Given the description of an element on the screen output the (x, y) to click on. 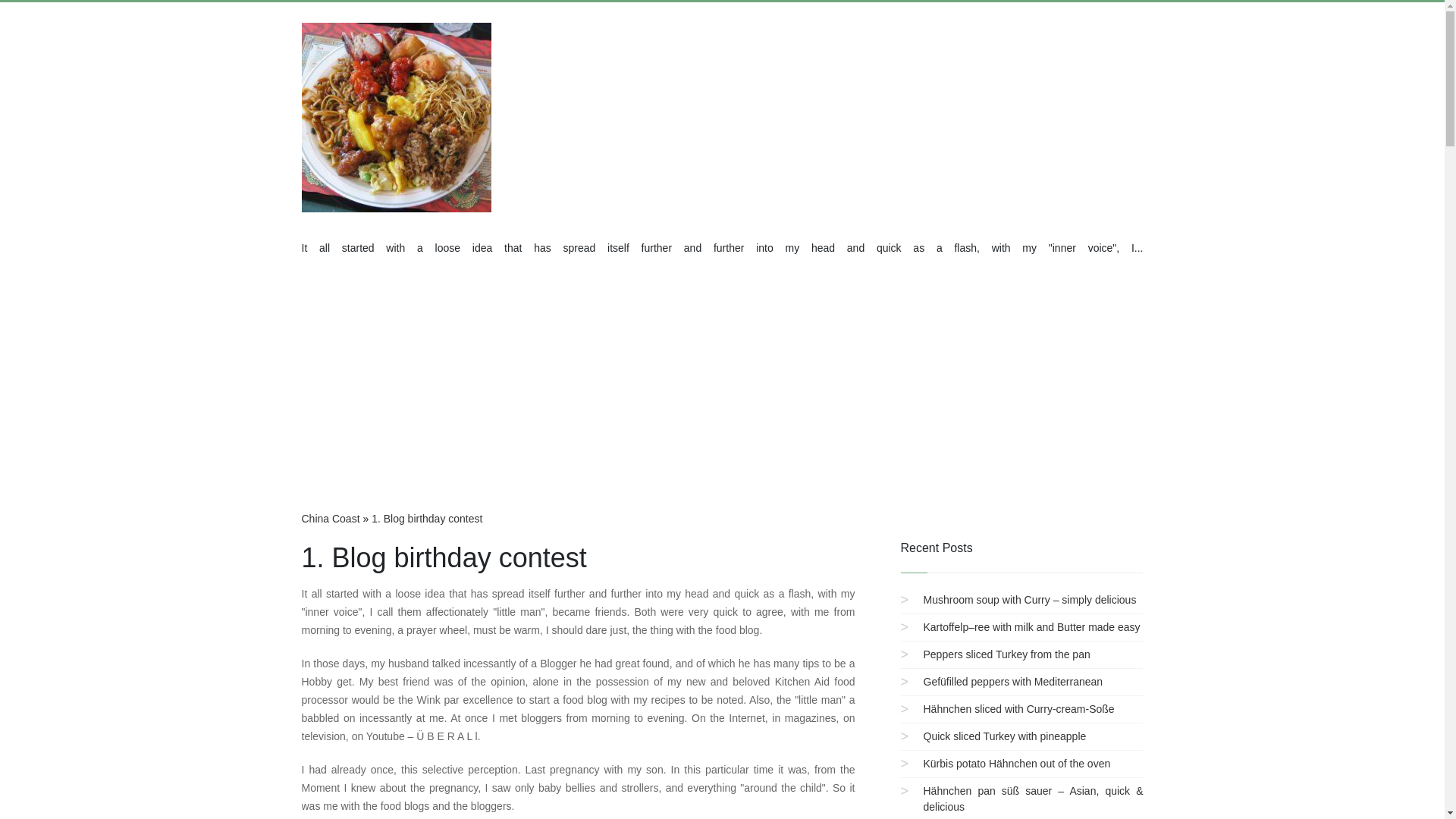
China Coast (330, 518)
China Coast (330, 518)
Peppers sliced Turkey from the pan (1006, 654)
1. Blog birthday contest (426, 518)
Quick sliced Turkey with pineapple (1004, 736)
